Given the description of an element on the screen output the (x, y) to click on. 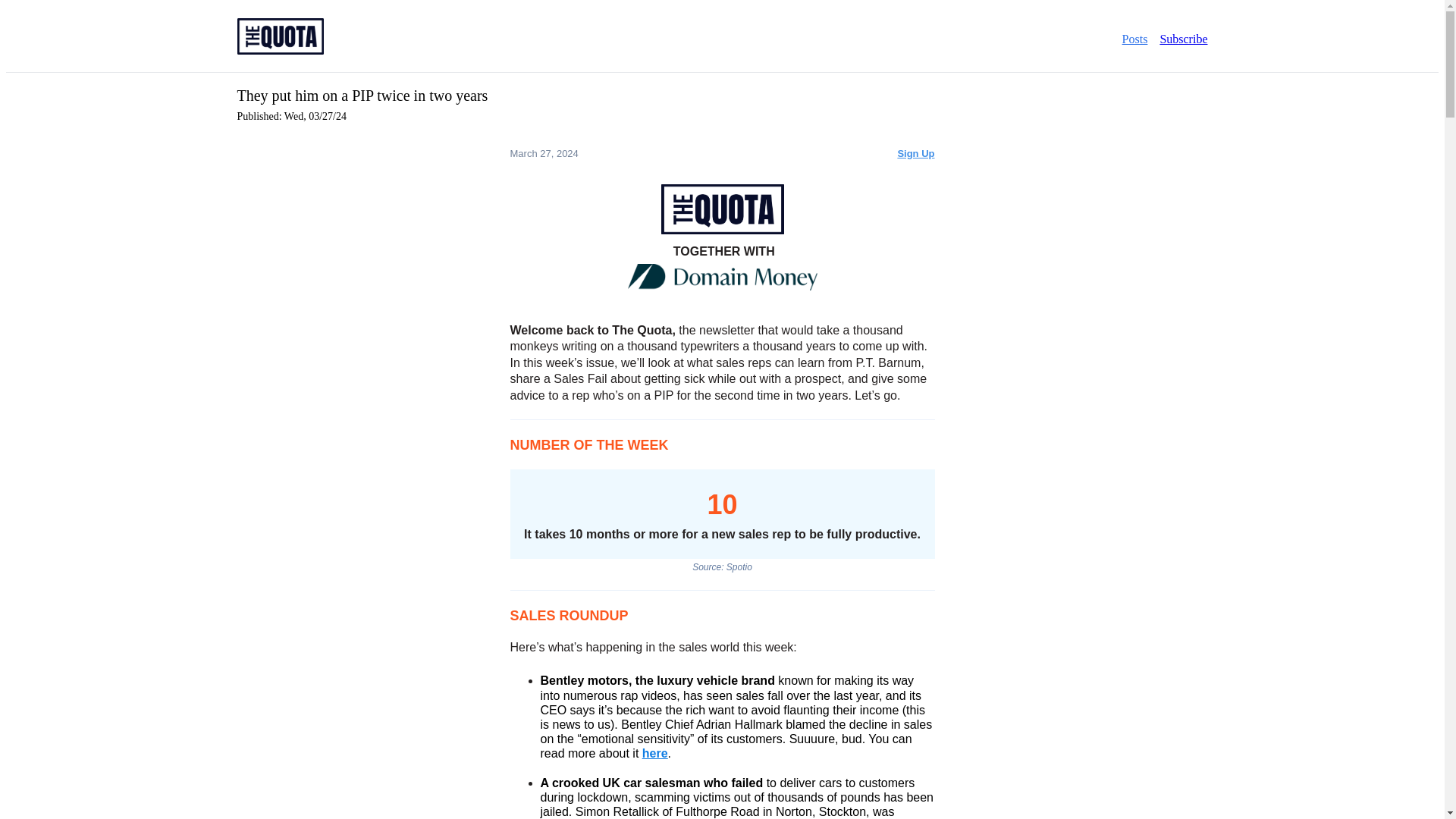
The Quota (279, 48)
here (655, 753)
Subscribe (1182, 38)
Posts (1135, 38)
Sign Up (915, 153)
